Given the description of an element on the screen output the (x, y) to click on. 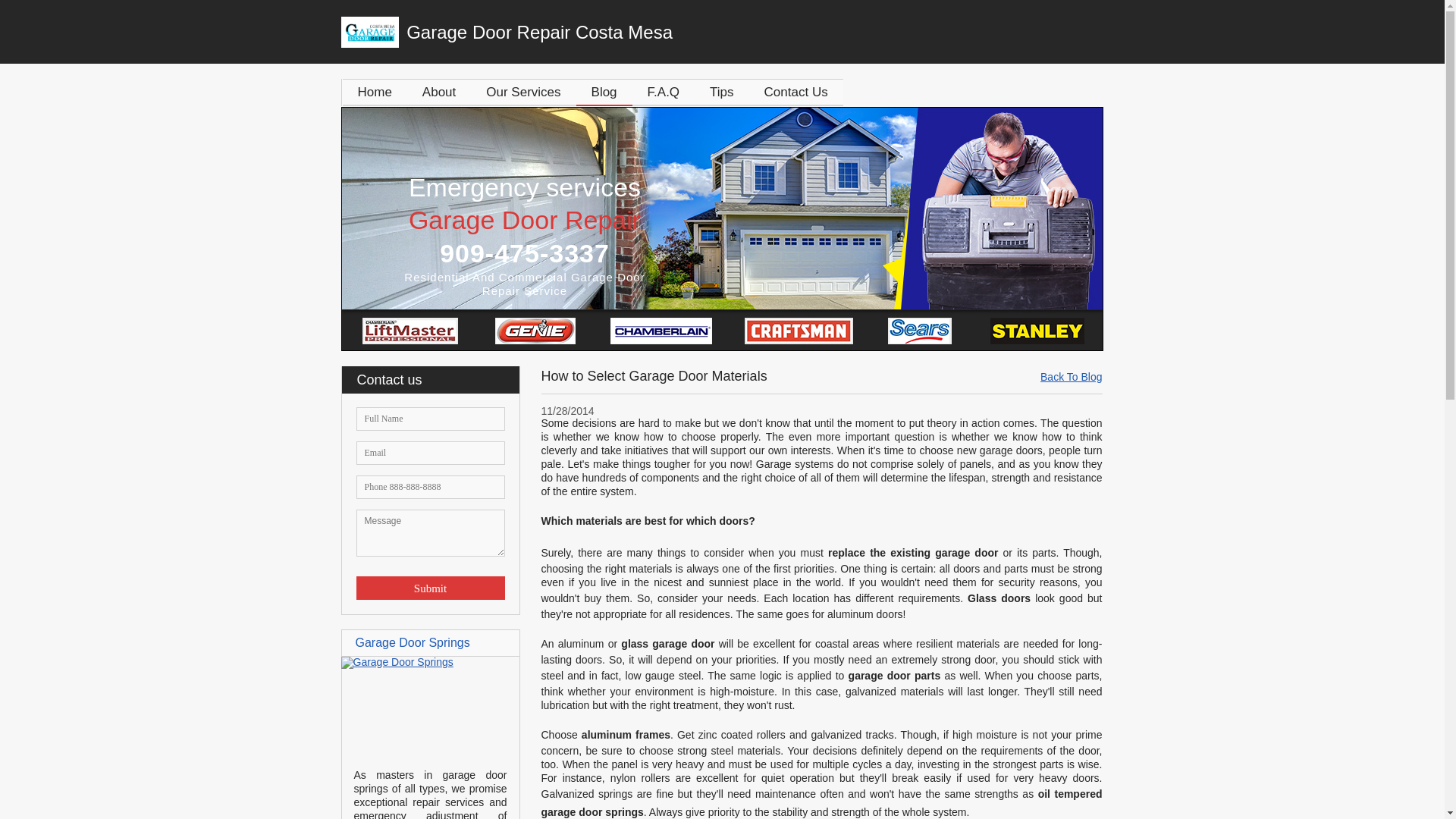
Back To Blog (1071, 376)
Garage Door Springs (411, 642)
F.A.Q (663, 91)
Facebook (1092, 29)
Blog (603, 91)
Tips (721, 91)
Submit (430, 587)
Home (374, 91)
Garage Door Repair Costa Mesa (606, 32)
Submit (430, 587)
Contact Us (796, 91)
Our Services (522, 91)
About (438, 91)
Garage Door Springs (396, 662)
Garage Door Repair Costa Mesa (606, 32)
